Given the description of an element on the screen output the (x, y) to click on. 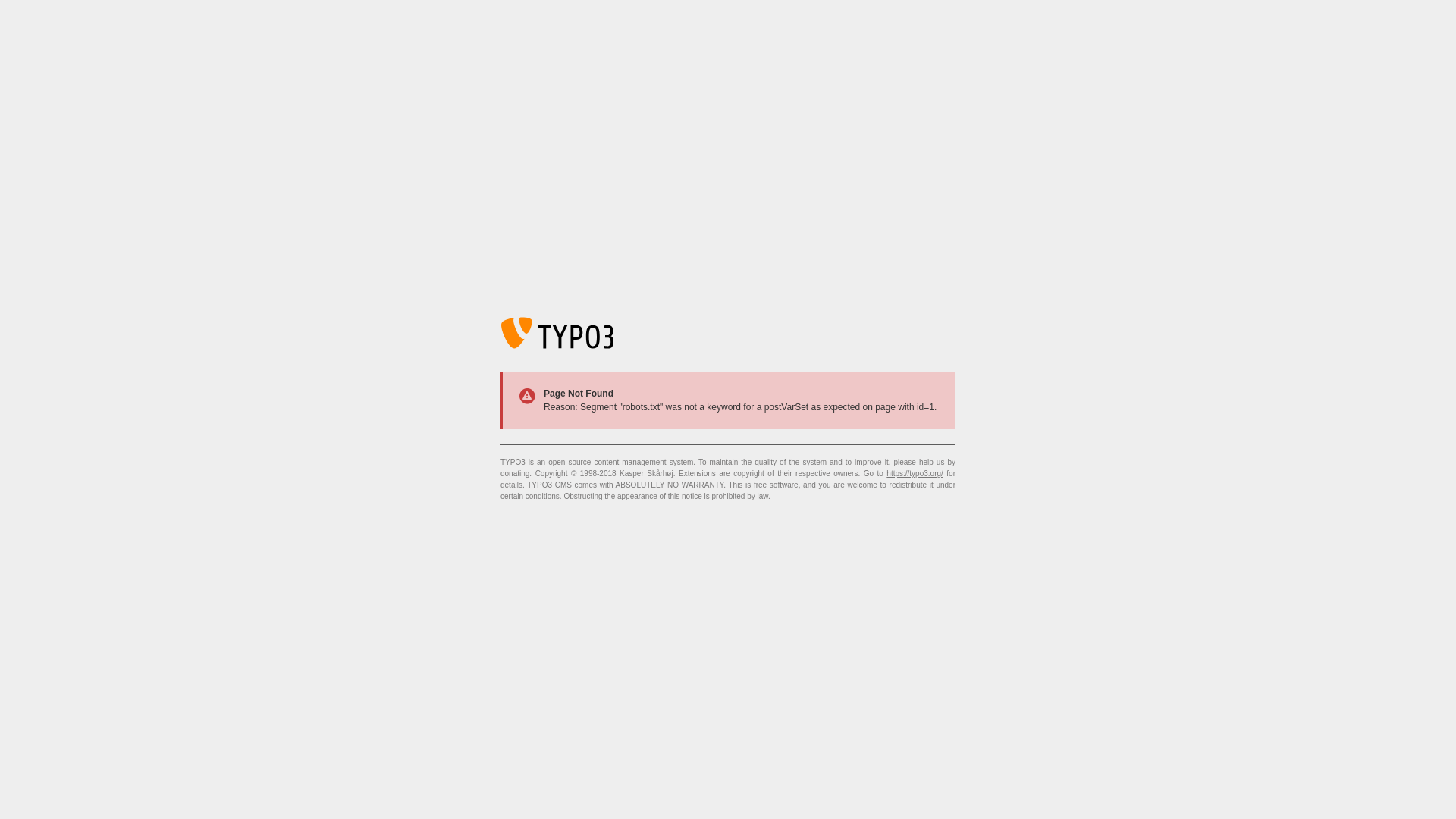
https://typo3.org/ Element type: text (914, 473)
